Given the description of an element on the screen output the (x, y) to click on. 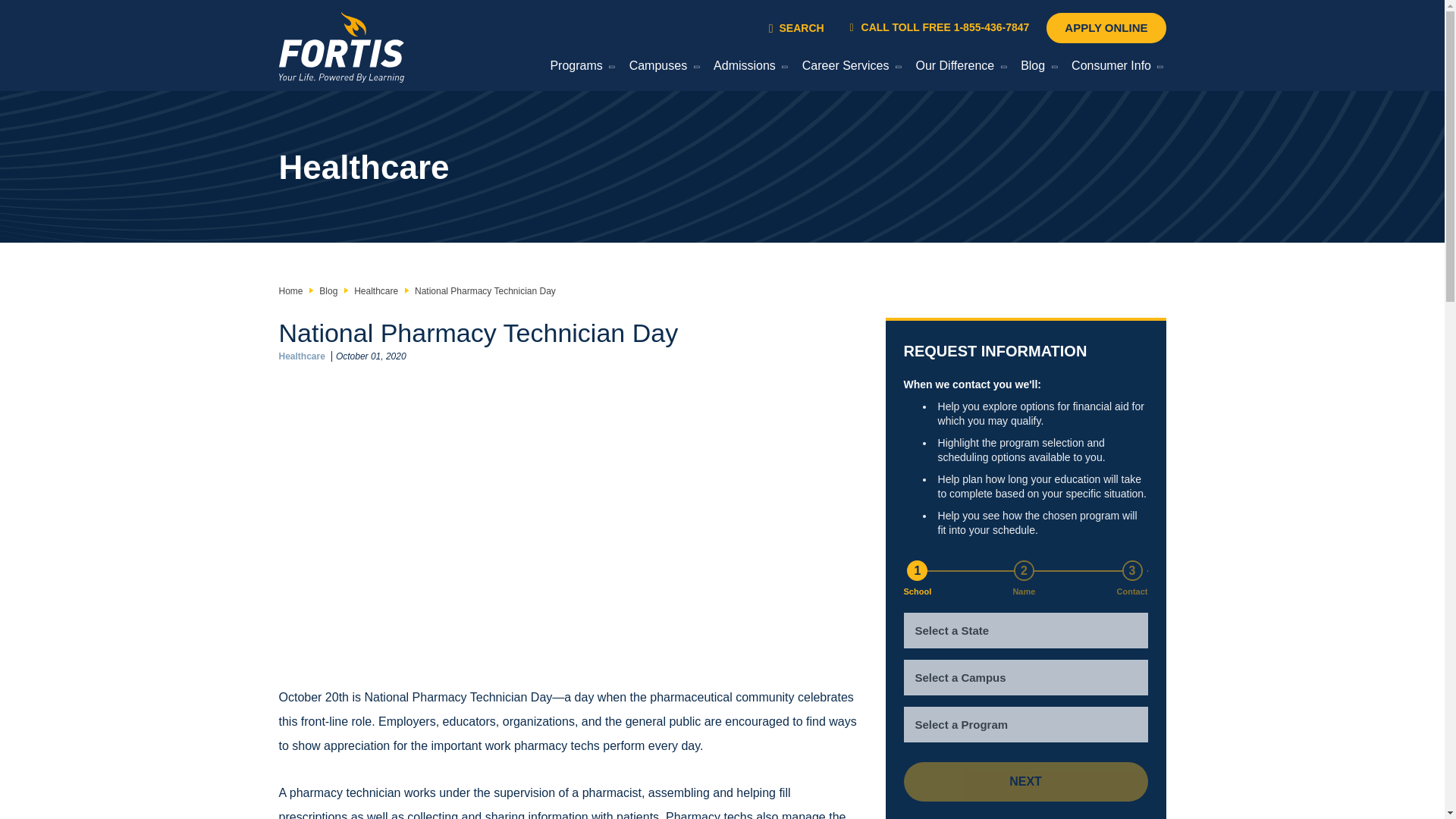
Campuses (661, 67)
APPLY ONLINE (1106, 28)
CALL TOLL FREE 1-855-436-7847 (939, 27)
Programs (579, 67)
